Given the description of an element on the screen output the (x, y) to click on. 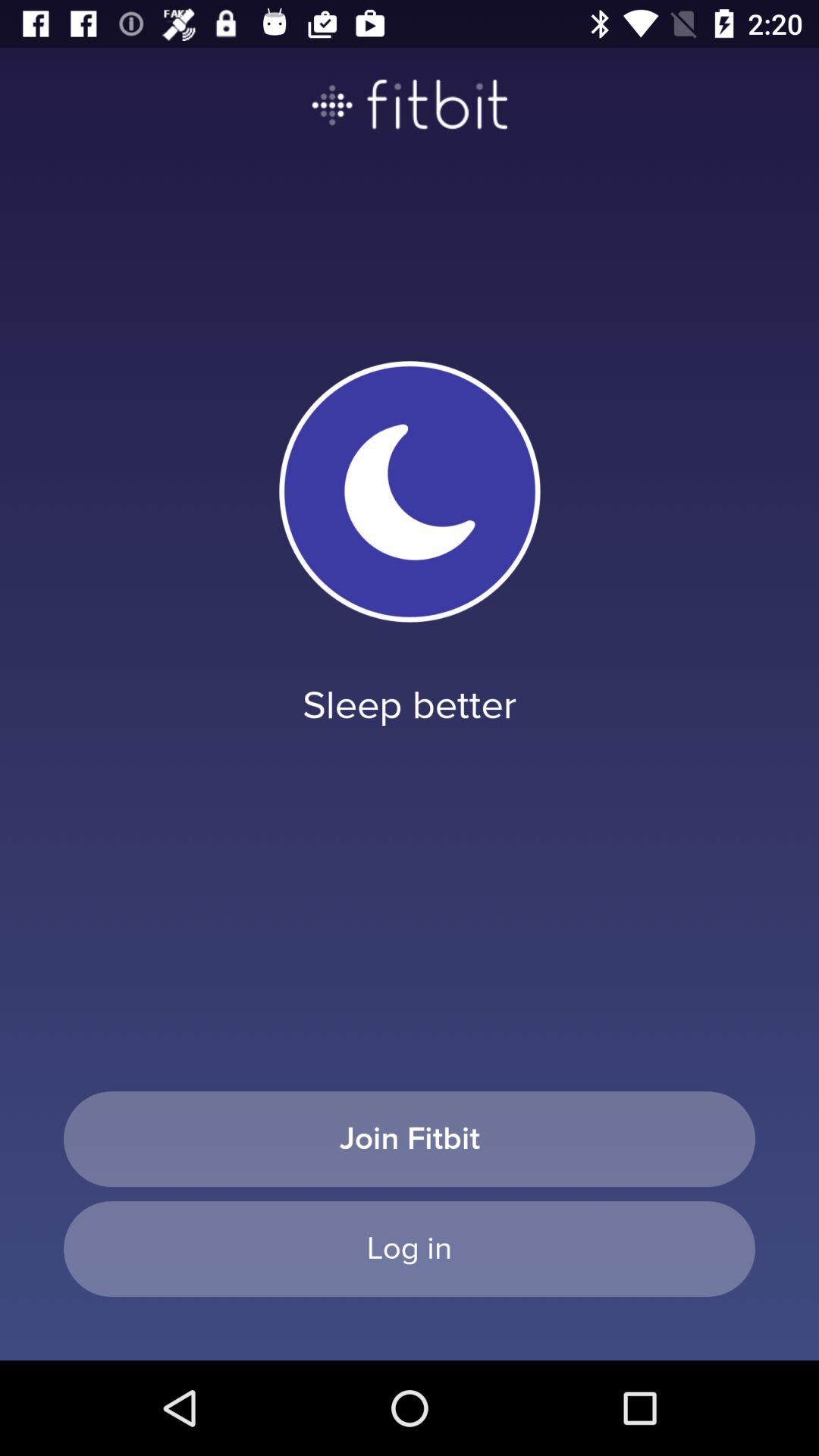
scroll until the log in item (409, 1248)
